Given the description of an element on the screen output the (x, y) to click on. 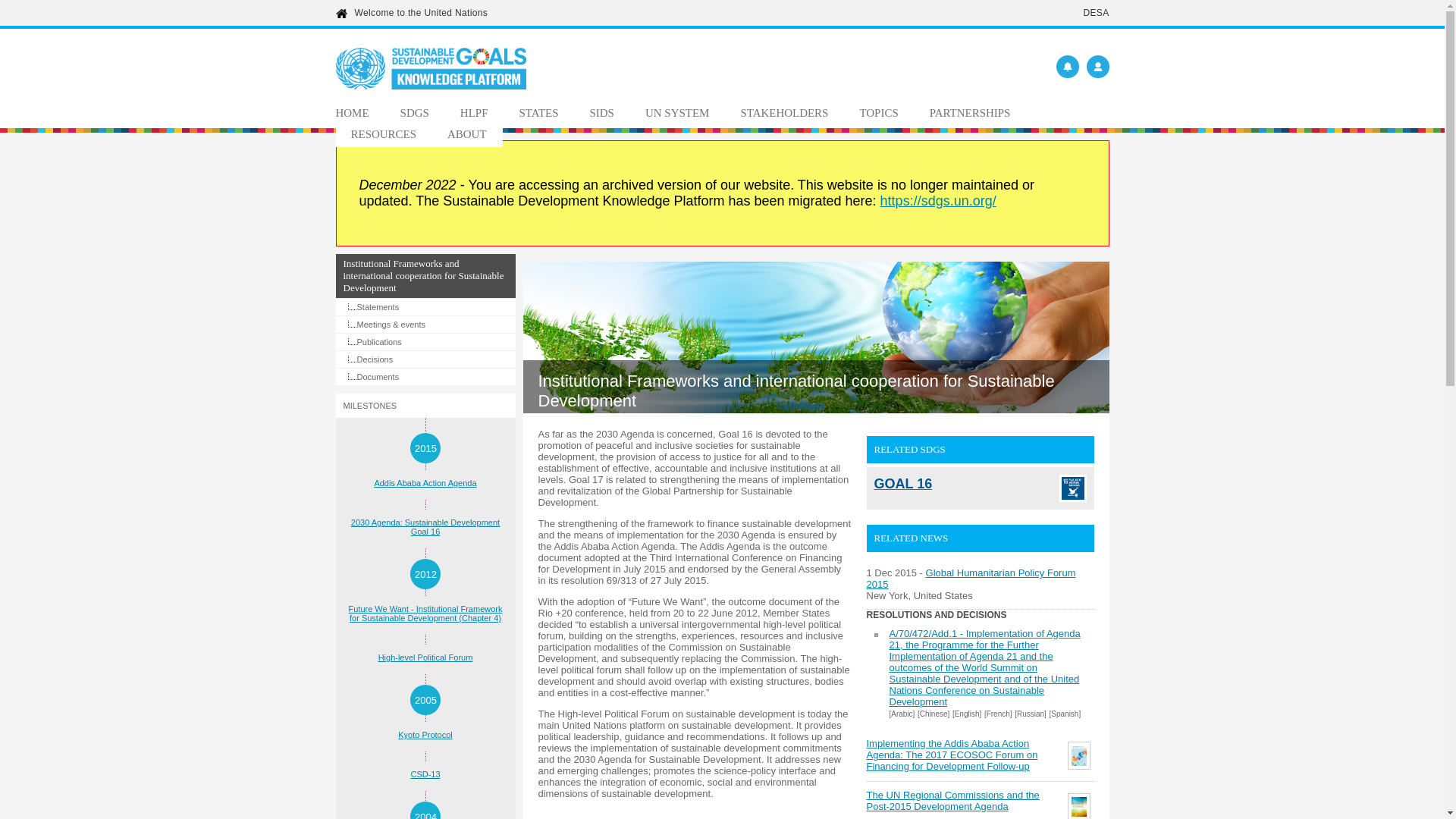
Welcome to the United Nations (421, 12)
Addis Ababa Action Agenda (425, 482)
Decisions (424, 359)
Publications (424, 341)
Documents (424, 376)
DESA (1095, 12)
CSD-13 (424, 773)
2030 Agenda: Sustainable Development Goal 16 (424, 526)
